Given the description of an element on the screen output the (x, y) to click on. 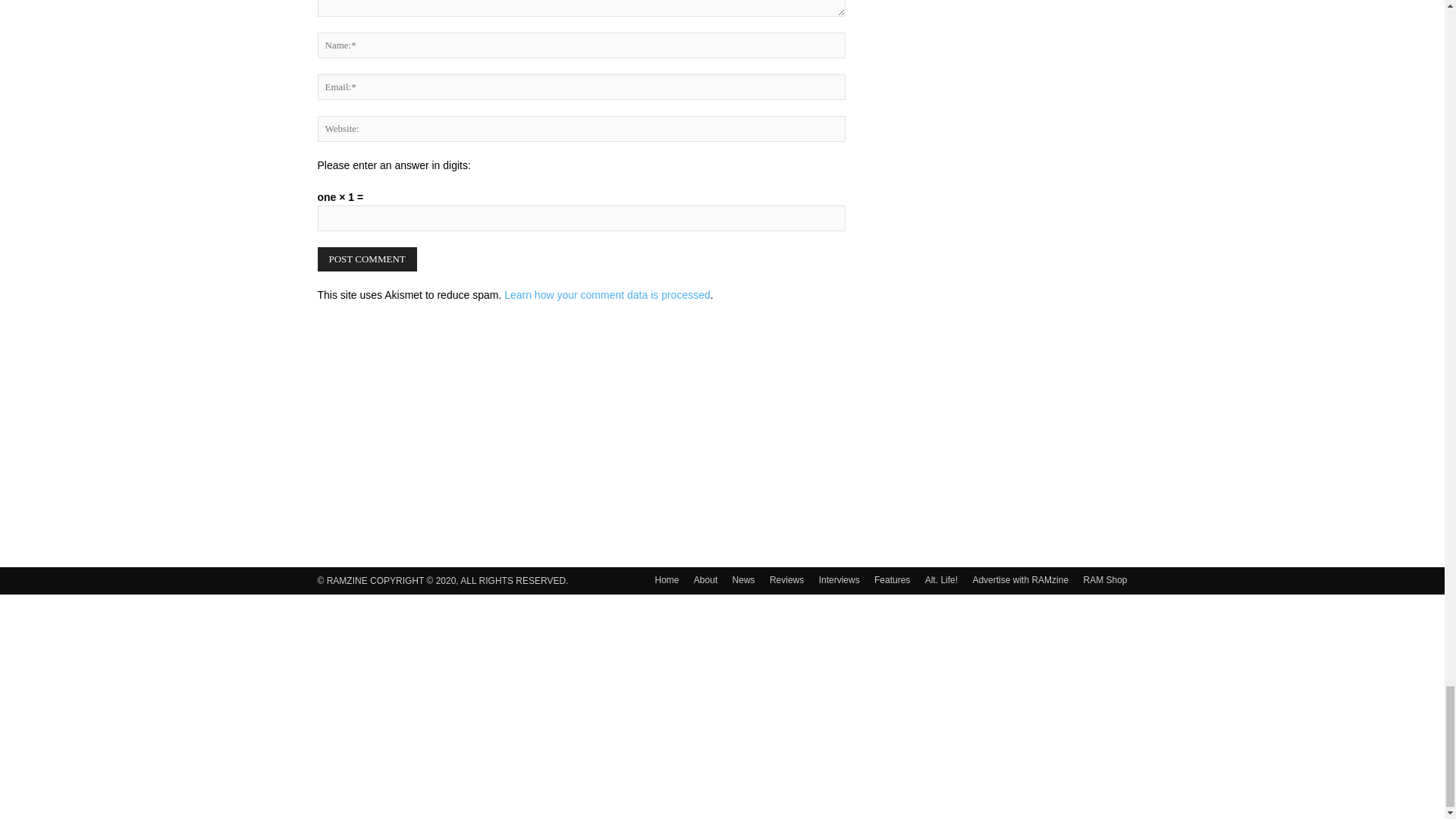
Post Comment (366, 259)
